Given the description of an element on the screen output the (x, y) to click on. 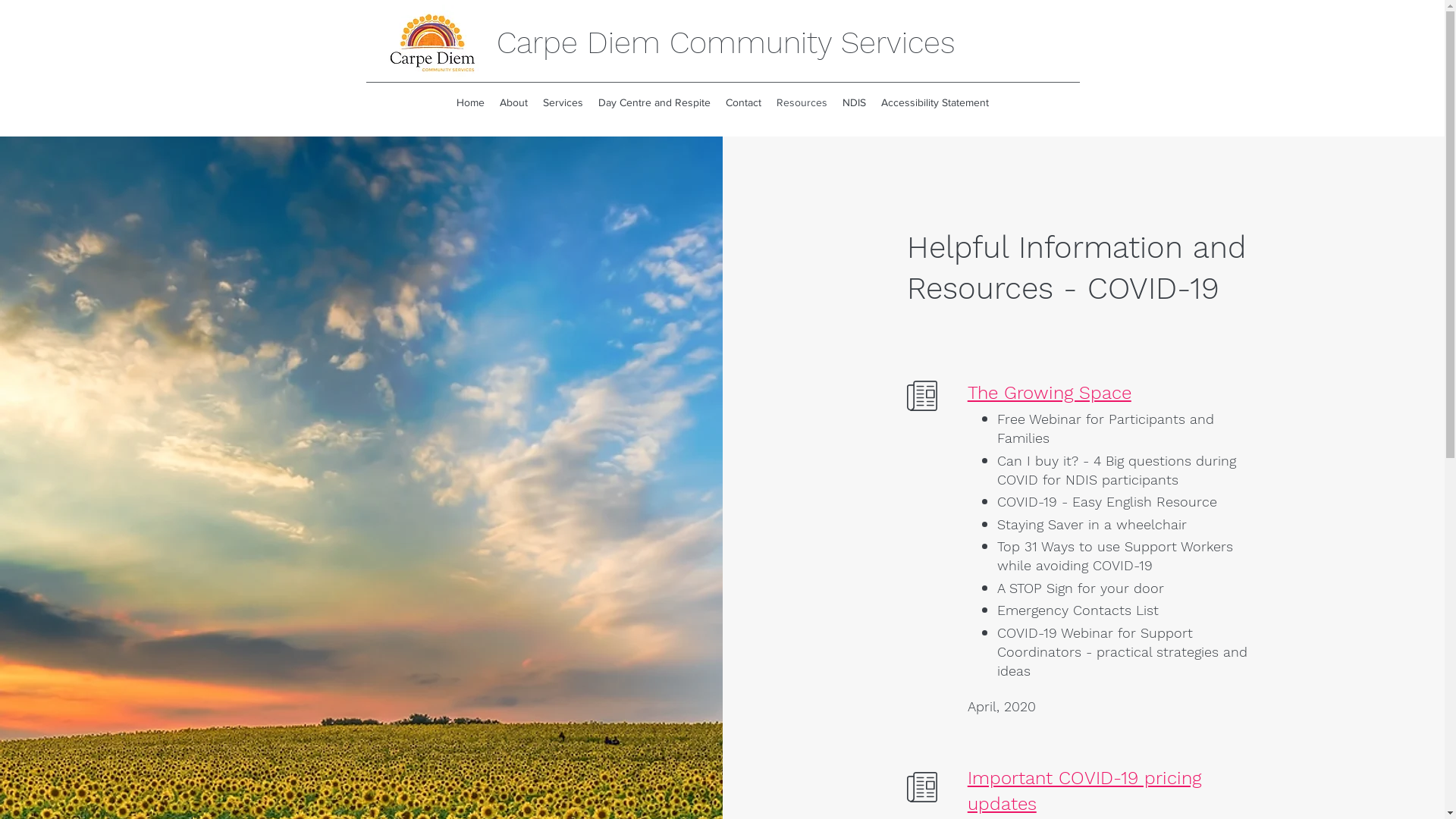
Important COVID-19 pricing updates Element type: text (1084, 790)
About Element type: text (512, 102)
Day Centre and Respite Element type: text (653, 102)
Carpe Diem Community Services Element type: text (725, 42)
The Growing Space Element type: text (1049, 392)
Services Element type: text (562, 102)
Contact Element type: text (742, 102)
Accessibility Statement Element type: text (934, 102)
Resources Element type: text (801, 102)
NDIS Element type: text (853, 102)
Home Element type: text (470, 102)
